Given the description of an element on the screen output the (x, y) to click on. 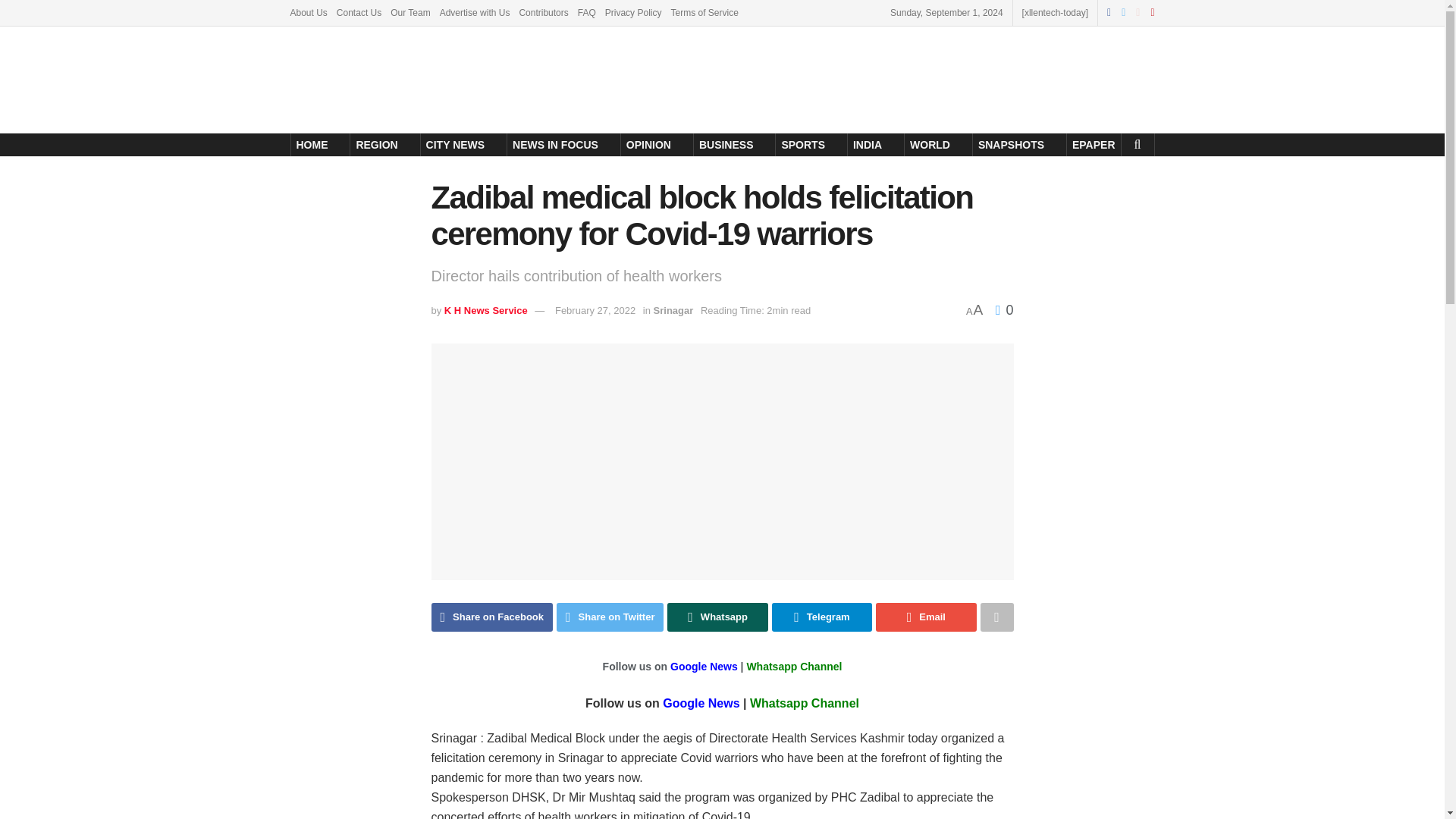
Advertise with Us (475, 12)
OPINION (649, 144)
Contributors (542, 12)
BUSINESS (726, 144)
WORLD (929, 144)
REGION (376, 144)
Terms of Service (703, 12)
Privacy Policy (633, 12)
NEWS IN FOCUS (555, 144)
HOME (312, 144)
